Given the description of an element on the screen output the (x, y) to click on. 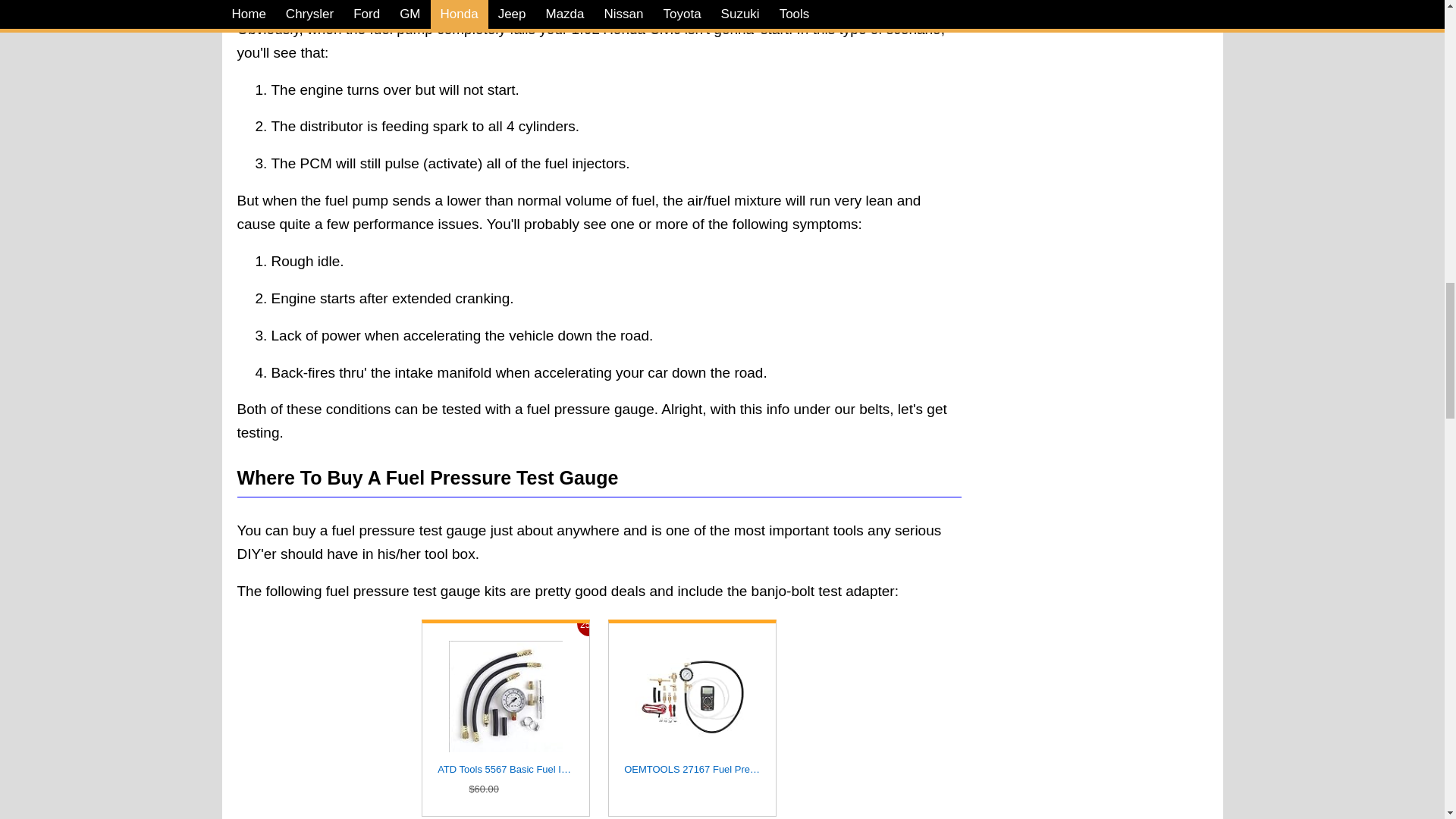
ATD Tools 5567 Basic Fuel Injection Pressure Tester (505, 770)
ATD Tools 5567 Basic Fuel Injection Pressure Tester (505, 696)
